Given the description of an element on the screen output the (x, y) to click on. 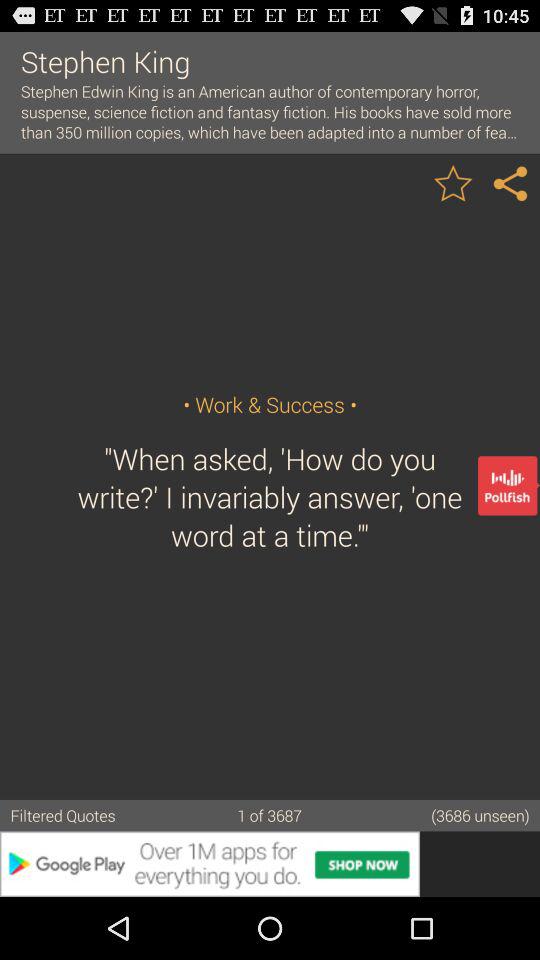
add image to favorites (453, 182)
